Given the description of an element on the screen output the (x, y) to click on. 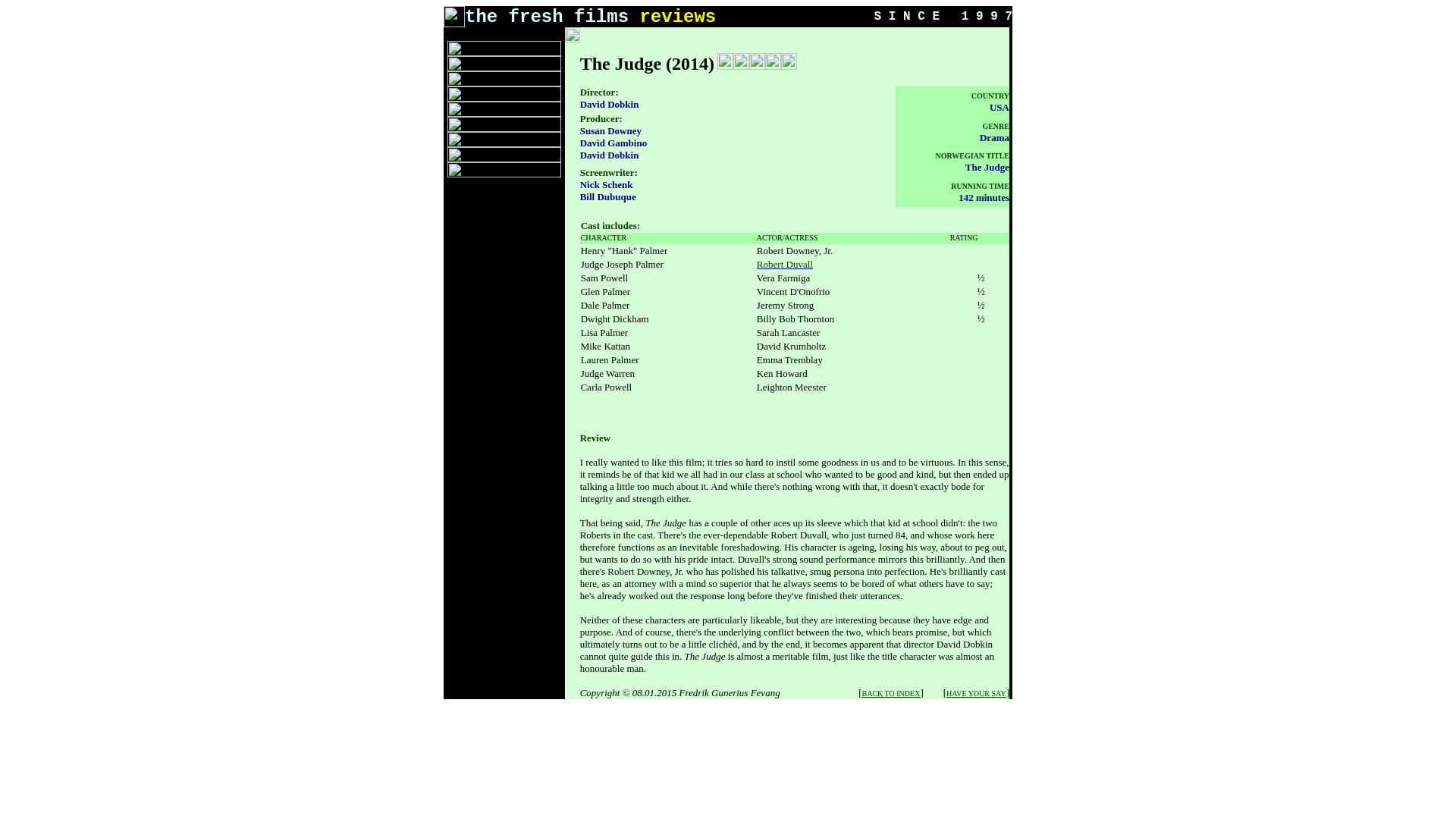
HAVE YOUR SAY (976, 691)
Director (597, 91)
BACK TO INDEX (890, 691)
Robert Duvall (784, 263)
Review (594, 436)
